Given the description of an element on the screen output the (x, y) to click on. 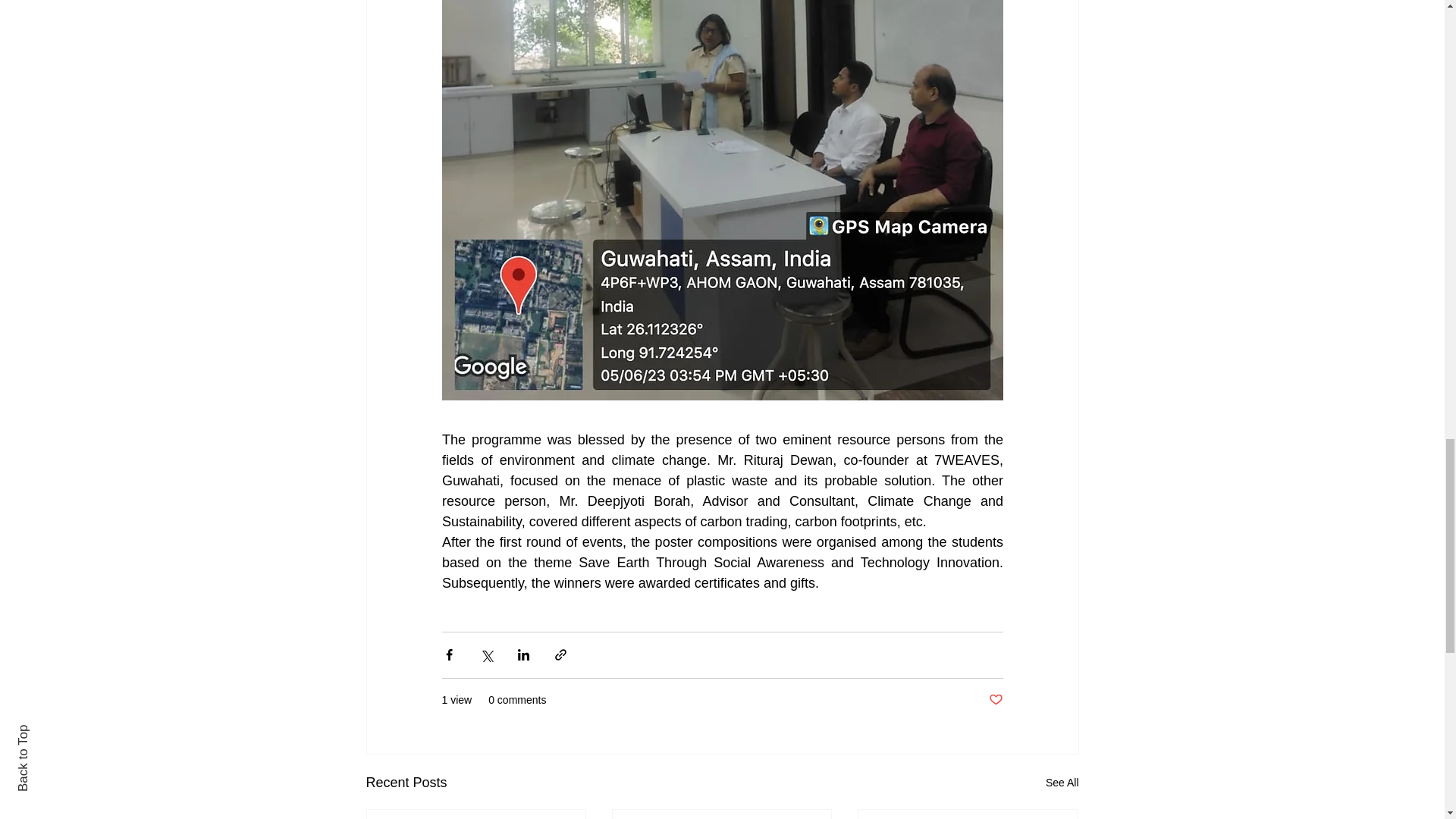
Post not marked as liked (995, 700)
See All (1061, 782)
